Given the description of an element on the screen output the (x, y) to click on. 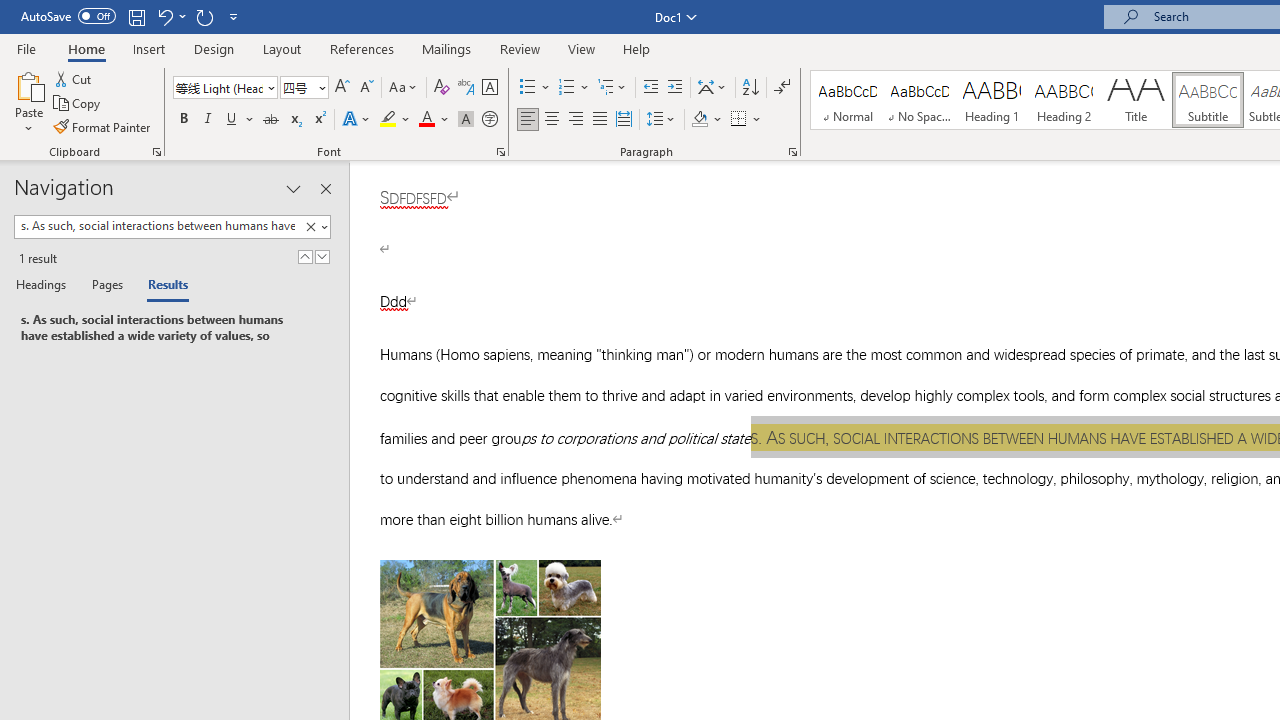
File Tab (26, 48)
Character Border (489, 87)
Shrink Font (365, 87)
Underline (232, 119)
Close pane (325, 188)
Layout (282, 48)
Borders (746, 119)
Text Effects and Typography (357, 119)
Font Color RGB(255, 0, 0) (426, 119)
Task Pane Options (293, 188)
References (362, 48)
Bullets (527, 87)
Paragraph... (792, 151)
Line and Paragraph Spacing (661, 119)
Font Color (434, 119)
